Given the description of an element on the screen output the (x, y) to click on. 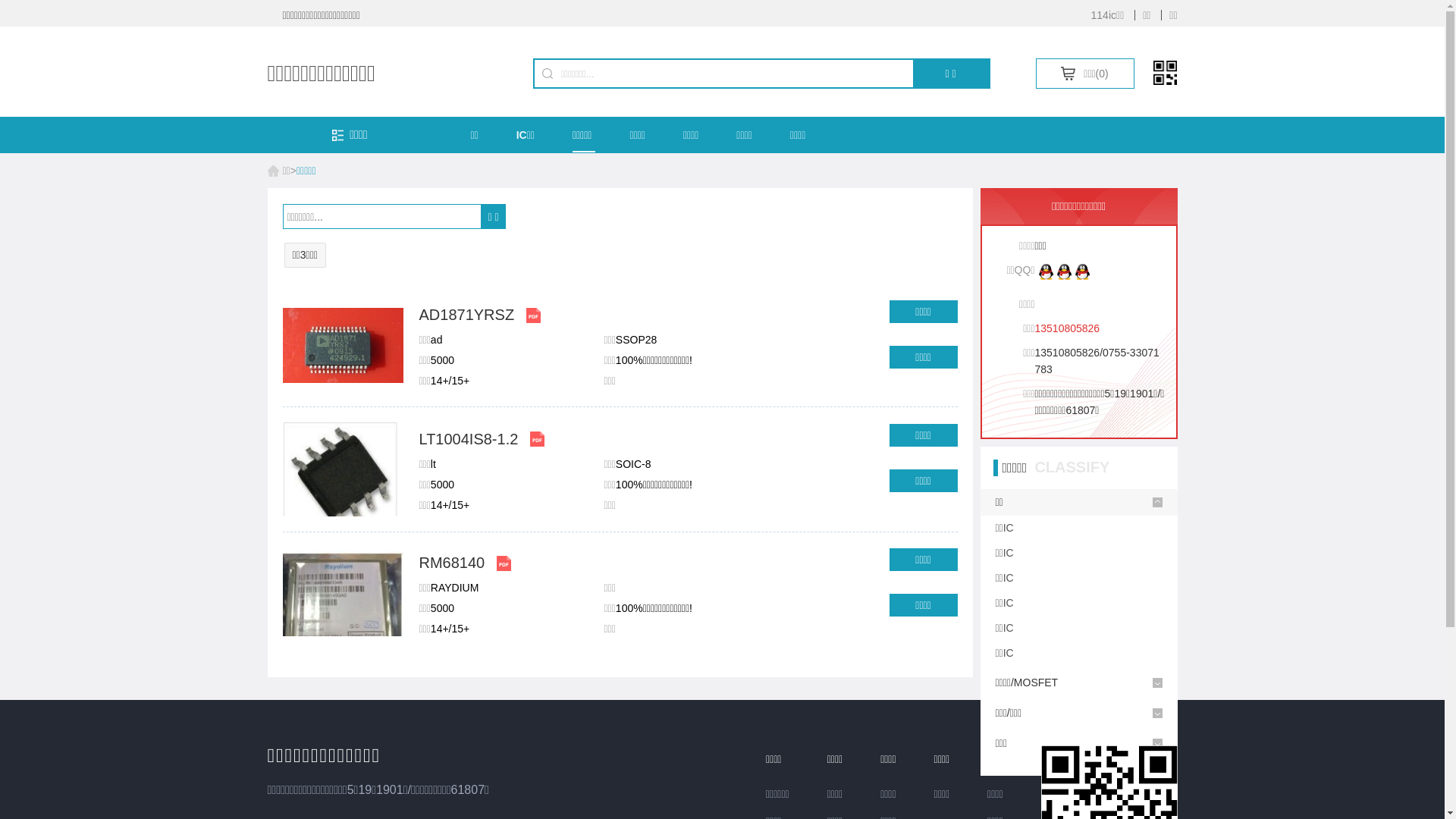
AD1871YRSZ Element type: text (466, 314)
RM68140 Element type: text (451, 562)
LT1004IS8-1.2 Element type: text (467, 438)
